Given the description of an element on the screen output the (x, y) to click on. 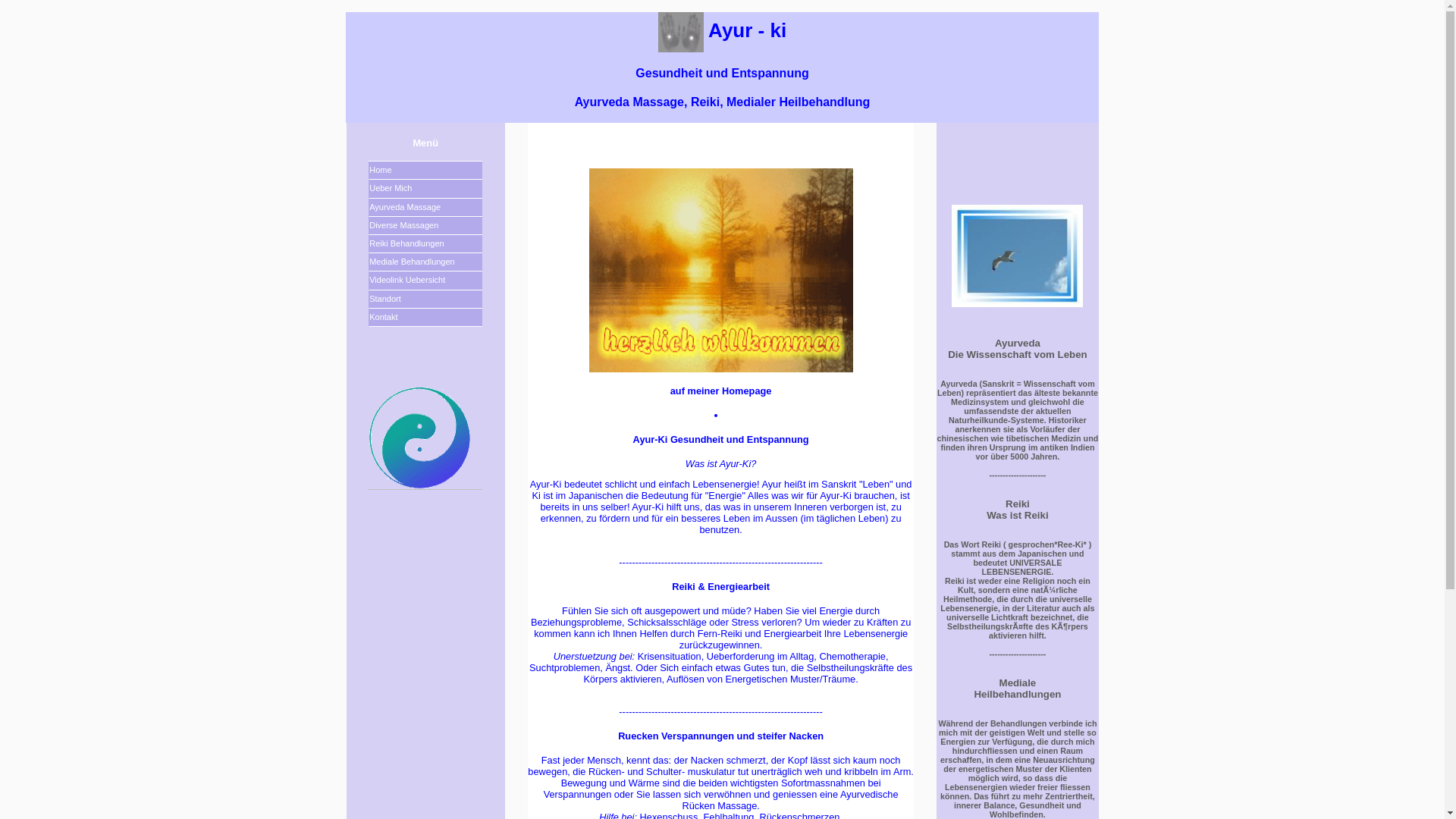
Standort Element type: text (425, 299)
YingYang Element type: hover (419, 437)
Bild Rechts Element type: hover (516, 531)
Bild Recht Element type: hover (924, 531)
Reiki Behandlungen Element type: text (425, 244)
Ayurveda Massage Element type: text (425, 207)
Ueber Mich Element type: text (425, 188)
Diverse Massagen Element type: text (425, 225)
Mediale Behandlungen Element type: text (425, 262)
Home Element type: text (425, 170)
Moewe Element type: hover (1016, 255)
Welcome Element type: hover (721, 270)
Videolink Uebersicht Element type: text (425, 280)
Kontakt Element type: text (425, 317)
Bild Links Element type: hover (425, 124)
